Given the description of an element on the screen output the (x, y) to click on. 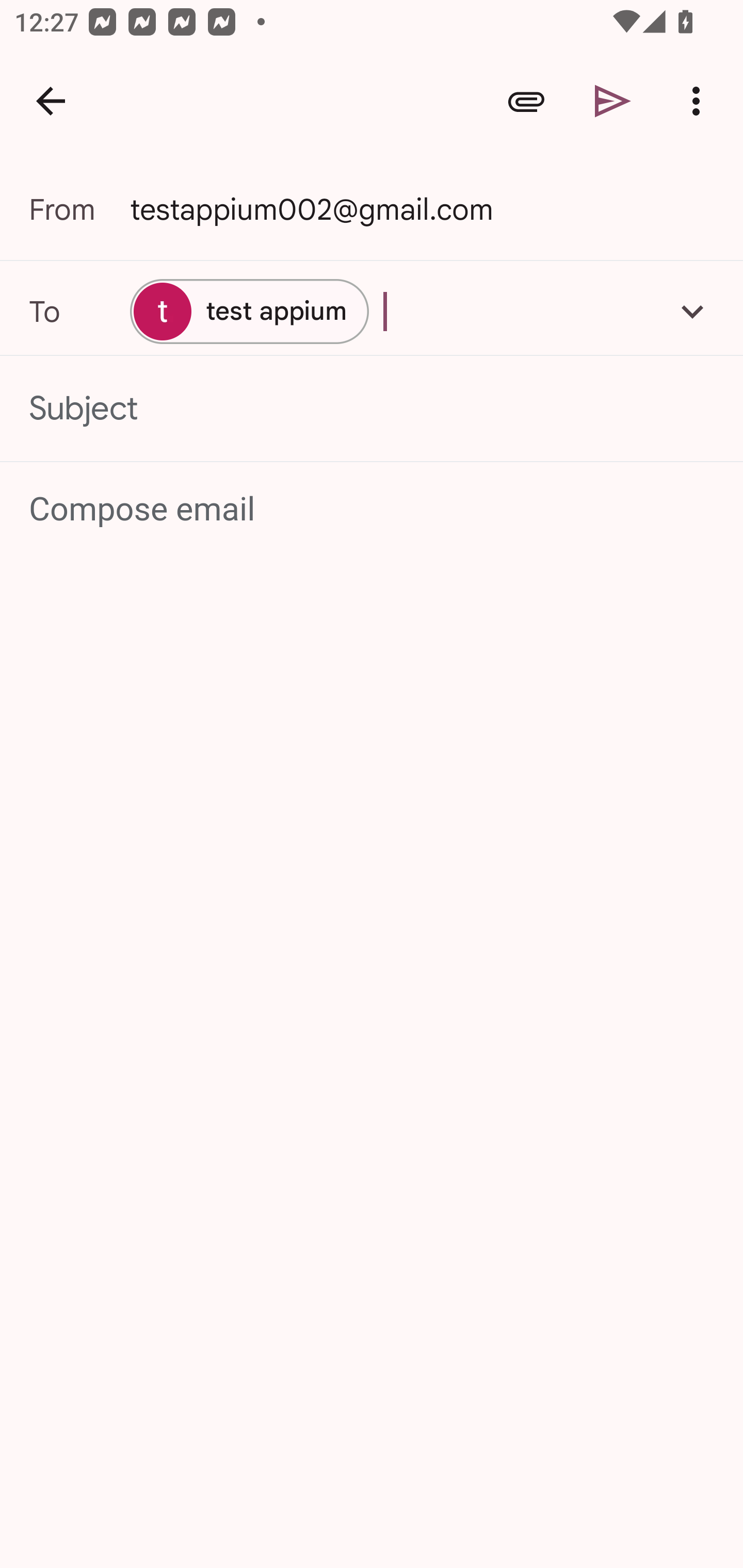
Navigate up (50, 101)
Attach file (525, 101)
Send (612, 101)
More options (699, 101)
From (79, 209)
Add Cc/Bcc (692, 311)
test appium test appium, testappium002@gmail.com (371, 311)
test appium test appium, testappium002@gmail.com (249, 311)
Subject (371, 407)
Compose email (372, 509)
